Given the description of an element on the screen output the (x, y) to click on. 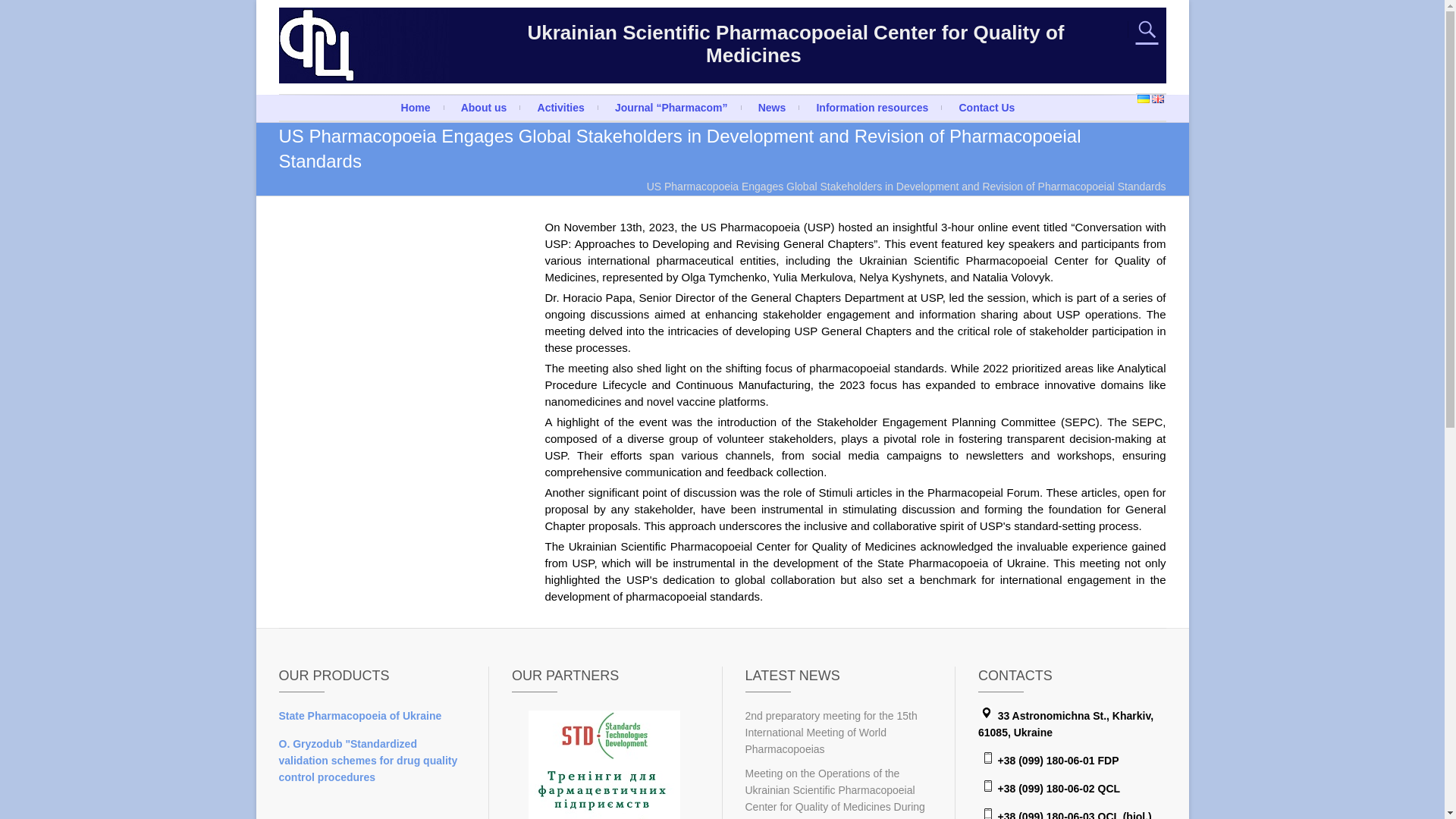
Home (415, 107)
English (1157, 99)
About us (483, 107)
Activities (561, 107)
